Given the description of an element on the screen output the (x, y) to click on. 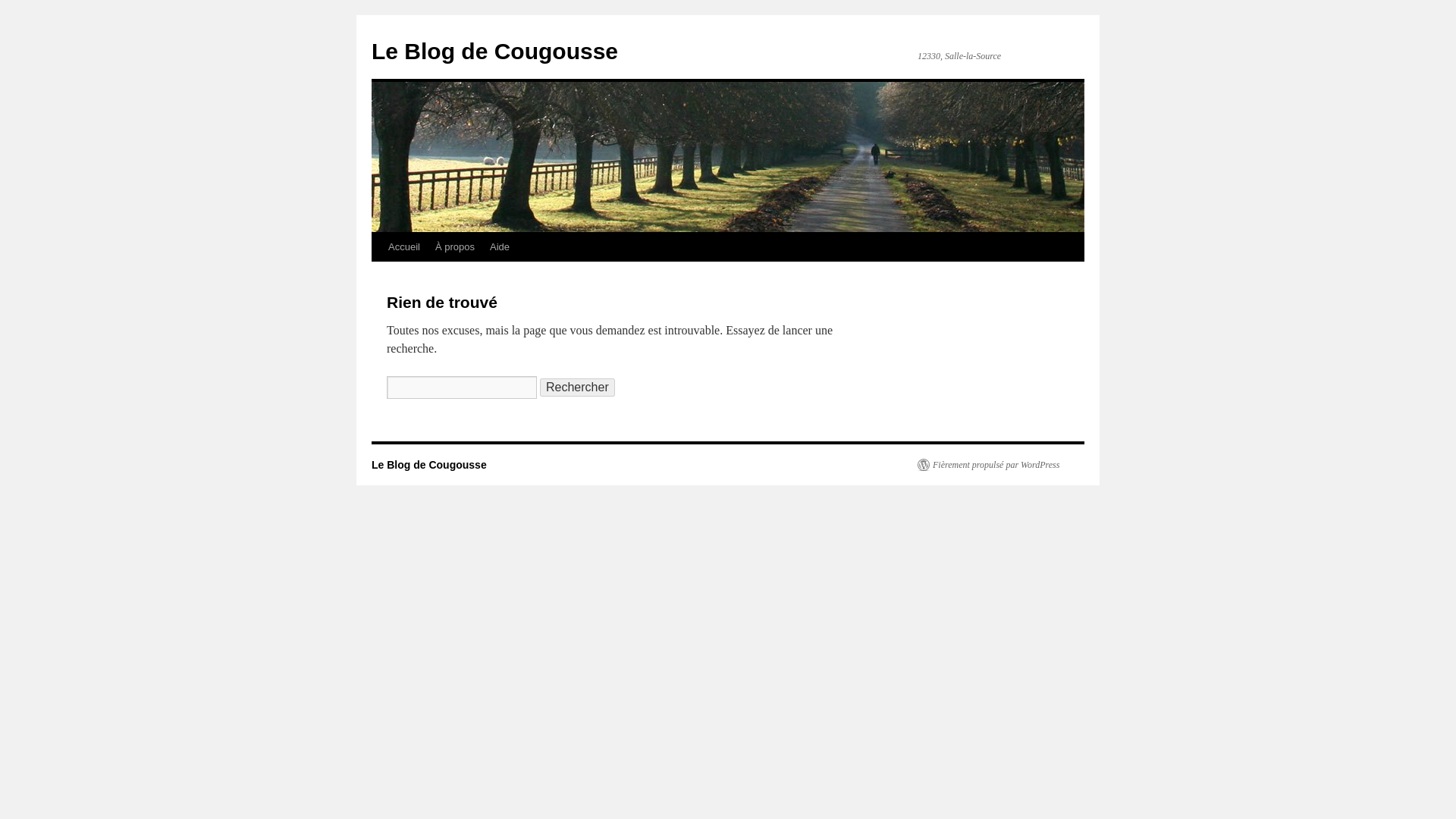
Rechercher (577, 387)
Aide (498, 246)
Accueil (404, 246)
Le Blog de Cougousse (494, 50)
Le Blog de Cougousse (494, 50)
Rechercher (577, 387)
